Given the description of an element on the screen output the (x, y) to click on. 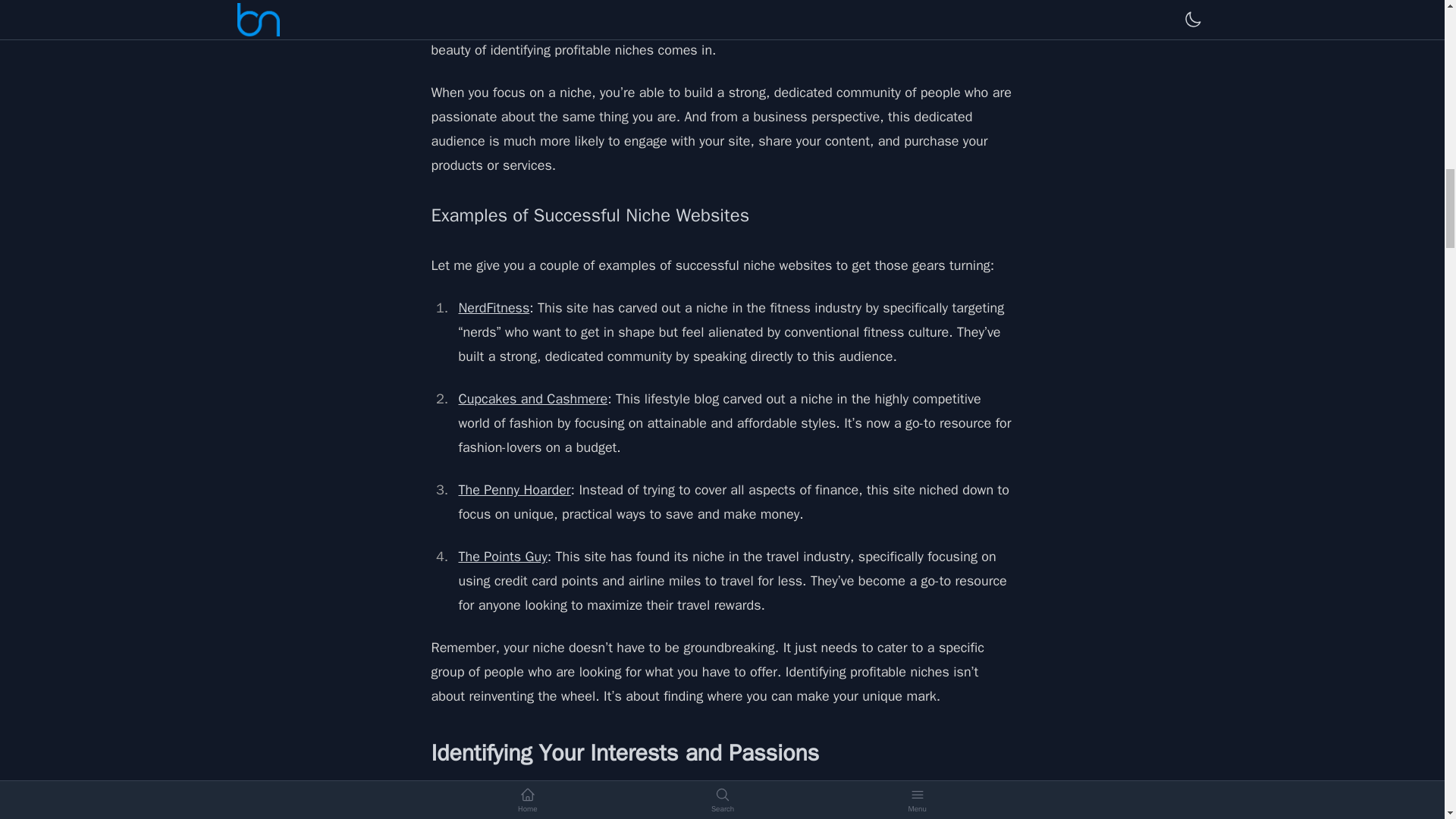
The Points Guy (502, 556)
The Penny Hoarder (514, 489)
The Points Guy (502, 556)
Cupcakes and Cashmere (532, 398)
Cupcakes and Cashmere (532, 398)
The Penny Hoarder (514, 489)
NerdFitness (493, 307)
NerdFitness (493, 307)
